Given the description of an element on the screen output the (x, y) to click on. 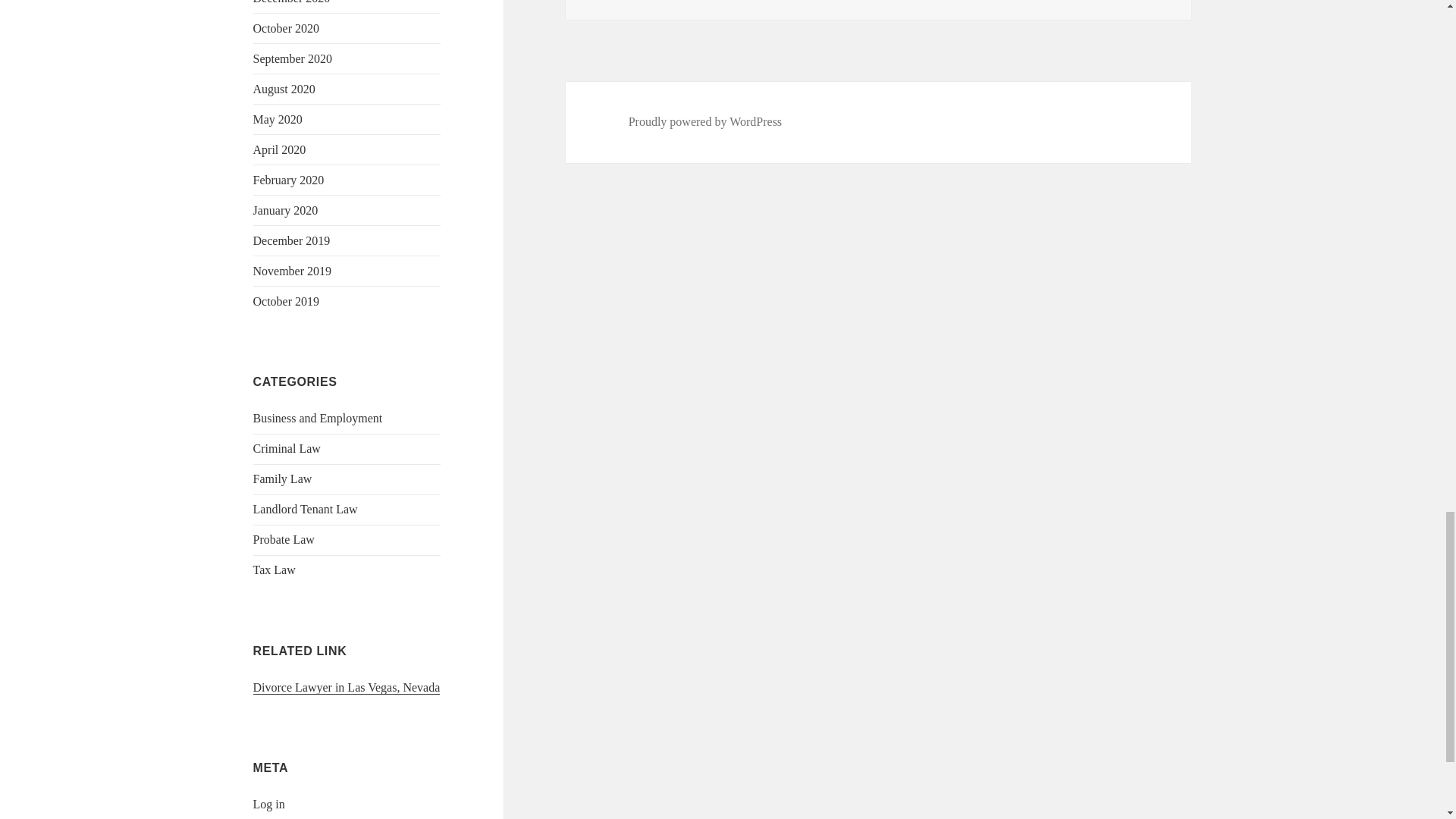
May 2020 (277, 119)
September 2020 (292, 58)
December 2019 (291, 240)
December 2020 (291, 2)
August 2020 (284, 88)
November 2019 (292, 270)
April 2020 (279, 149)
January 2020 (285, 210)
February 2020 (288, 179)
October 2020 (286, 28)
